Given the description of an element on the screen output the (x, y) to click on. 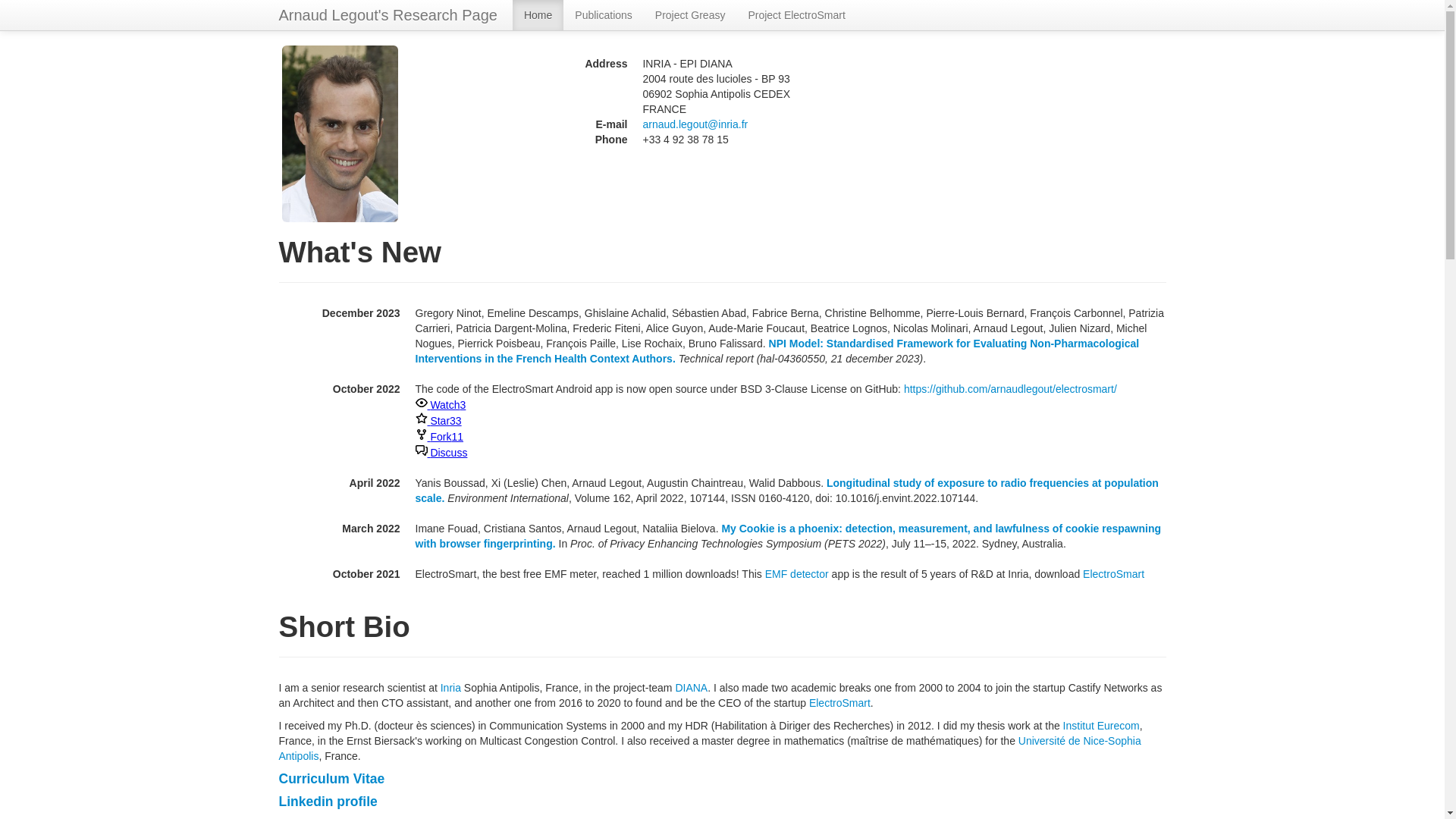
Linkedin profile (328, 801)
Arnaud Legout's Research Page (387, 15)
ElectroSmart (839, 702)
Home (537, 15)
Publications, Talks, and Patents (379, 817)
EMF detector (796, 573)
Curriculum Vitae (332, 778)
Google scholar profile (557, 817)
Inria (451, 687)
Publications (603, 15)
Project ElectroSmart (796, 15)
Project Greasy (689, 15)
